Given the description of an element on the screen output the (x, y) to click on. 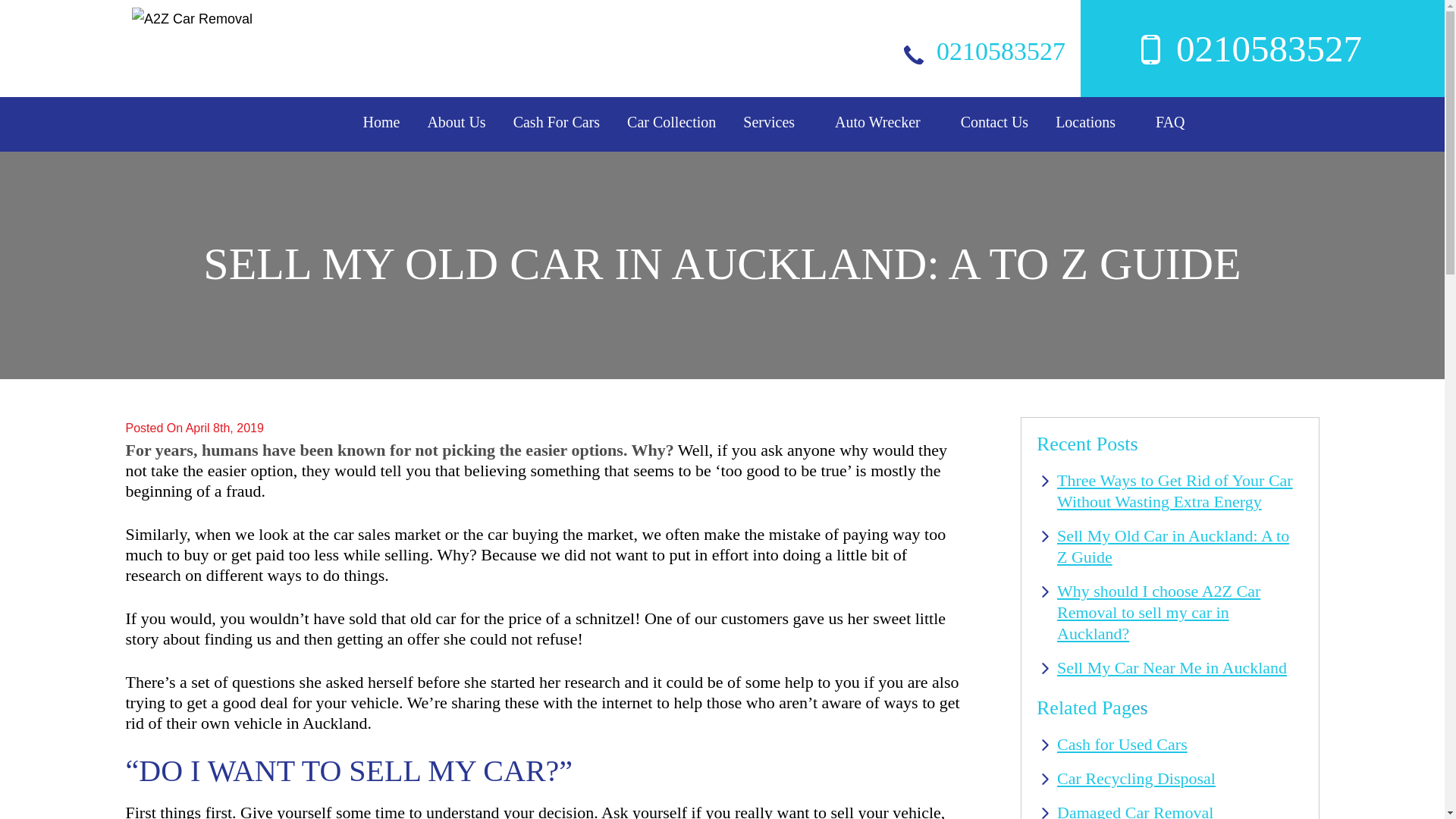
Auto Wrecker (877, 121)
Home (380, 121)
About Us (455, 121)
0210583527 (1220, 35)
Car Wreckers (877, 121)
Car Removal Auckland (671, 121)
Home (380, 121)
Locations (1085, 121)
0210583527 (989, 50)
Contact Us (993, 121)
About Us (455, 121)
0210583527 (1220, 35)
Cash for Cars (556, 121)
FAQ (1170, 121)
Services (768, 121)
